Given the description of an element on the screen output the (x, y) to click on. 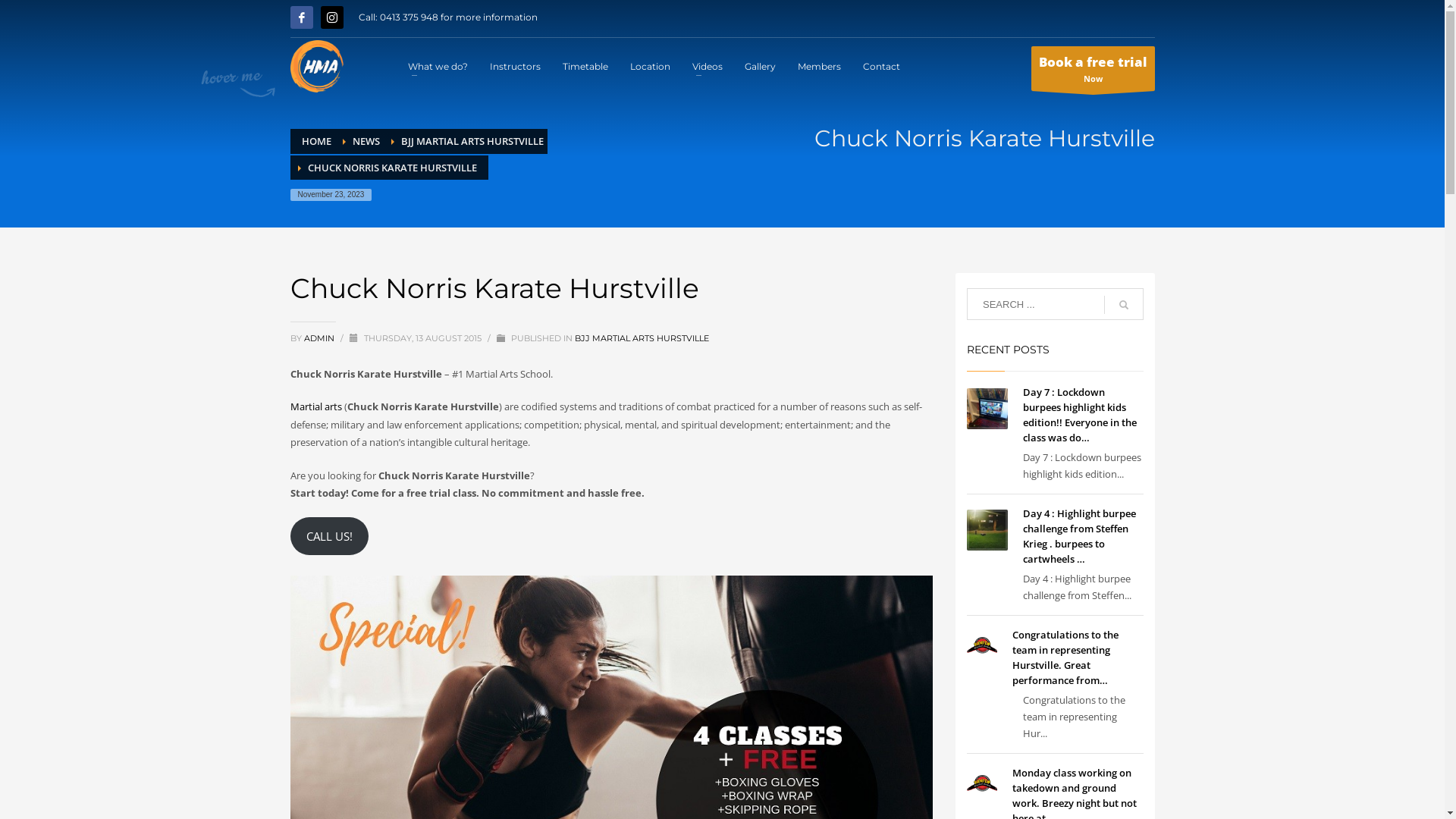
Facebook Element type: hover (300, 17)
CALL US! Element type: text (328, 536)
Location Element type: text (650, 65)
Hurstville Martial Arts  / HMA / BJJ Element type: hover (316, 66)
Martial arts Element type: text (315, 406)
Contact Element type: text (881, 65)
Instructors Element type: text (514, 65)
BJJ MARTIAL ARTS HURSTVILLE Element type: text (641, 337)
NEWS Element type: text (365, 140)
Book a free trial
Now Element type: text (1092, 67)
Instagram Element type: hover (331, 17)
HOME Element type: text (316, 140)
Members Element type: text (819, 65)
BJJ MARTIAL ARTS HURSTVILLE Element type: text (471, 140)
What we do? Element type: text (437, 65)
go Element type: text (1123, 304)
ADMIN Element type: text (319, 337)
Videos Element type: text (707, 65)
Timetable Element type: text (585, 65)
Gallery Element type: text (759, 65)
